Given the description of an element on the screen output the (x, y) to click on. 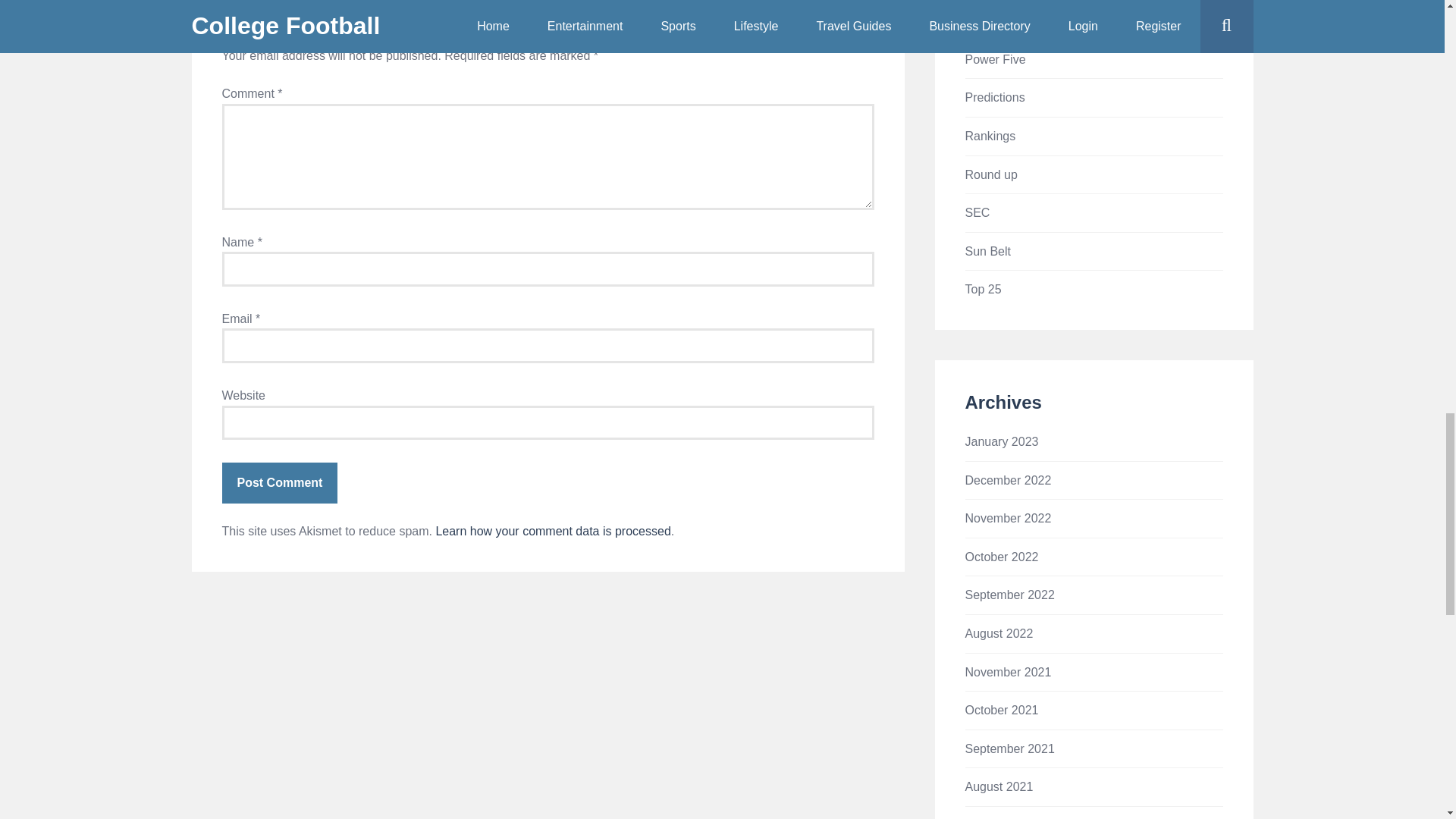
Post Comment (279, 482)
